Given the description of an element on the screen output the (x, y) to click on. 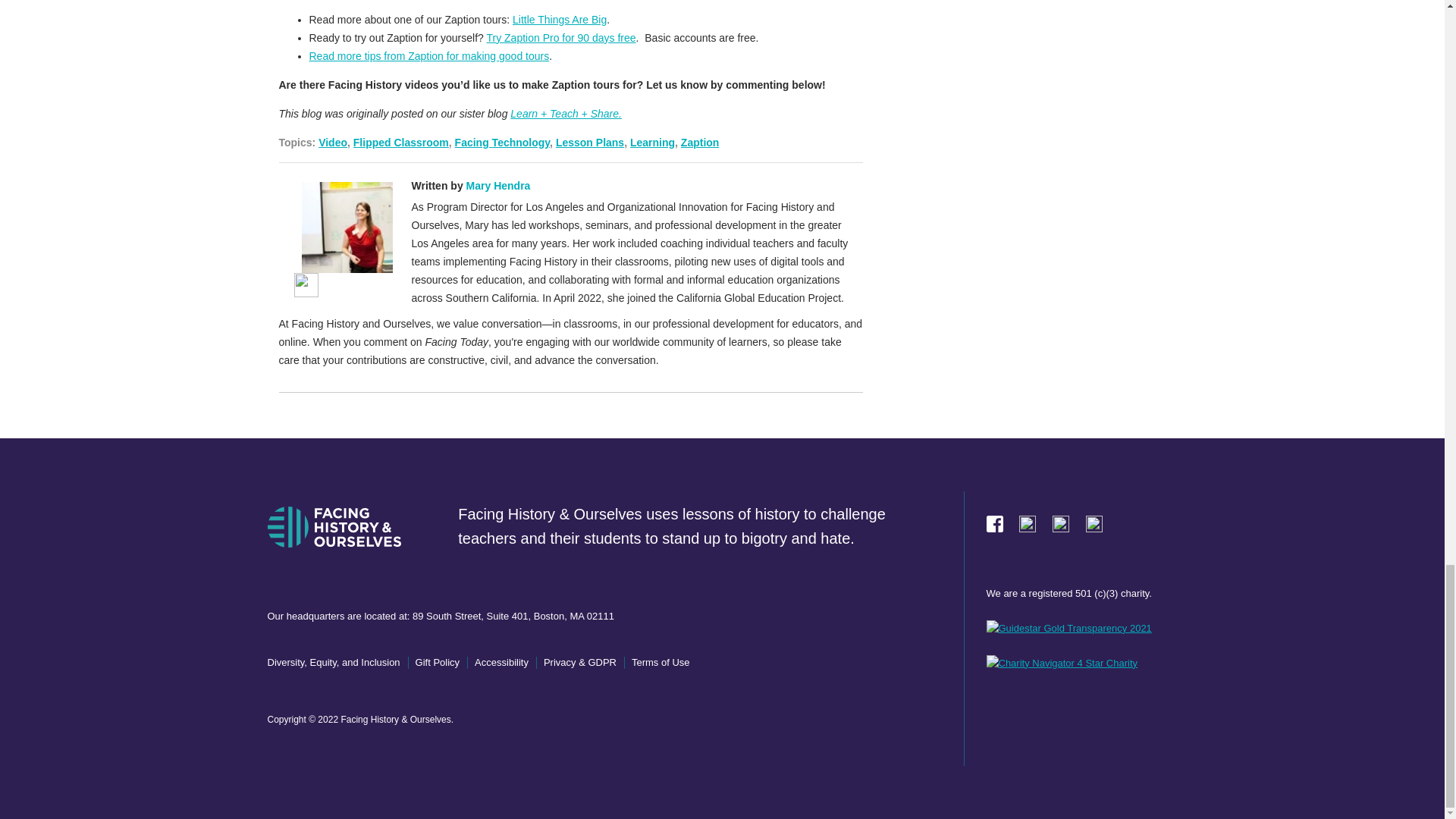
Try Zaption Pro for 90 days free (560, 37)
Learning (652, 142)
Mary Hendra (498, 185)
Video (332, 142)
Zaption (700, 142)
Little Things Are Big (559, 19)
Facing Technology (502, 142)
Read more tips from Zaption for making good tours (429, 55)
Flipped Classroom (400, 142)
Lesson Plans (590, 142)
